Given the description of an element on the screen output the (x, y) to click on. 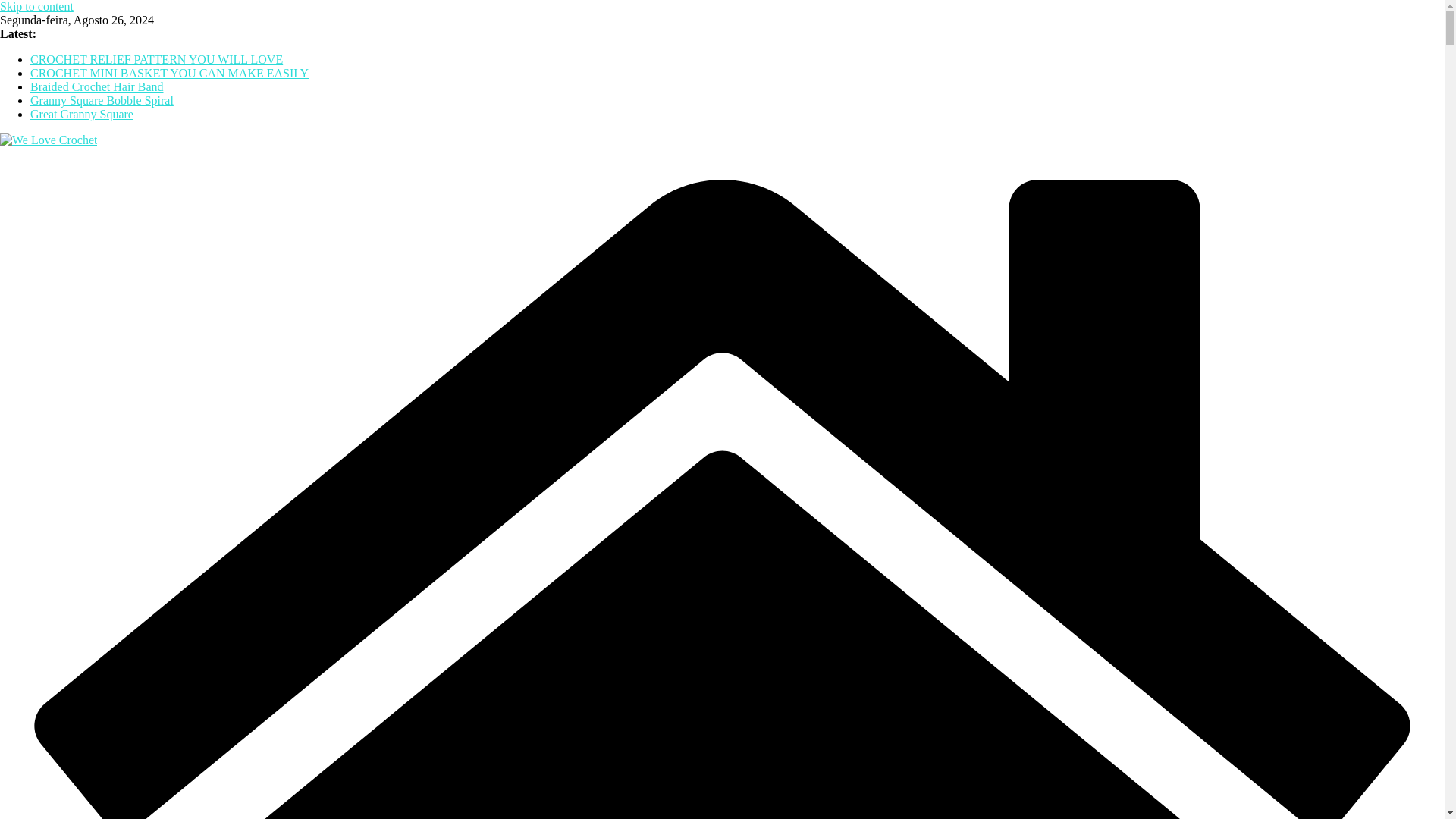
Great Granny Square (81, 113)
Great Granny Square (81, 113)
CROCHET RELIEF PATTERN YOU WILL LOVE (156, 59)
CROCHET MINI BASKET YOU CAN MAKE EASILY (169, 72)
CROCHET RELIEF PATTERN YOU WILL LOVE (156, 59)
Braided Crochet Hair Band (96, 86)
Granny Square Bobble Spiral (101, 100)
CROCHET MINI BASKET YOU CAN MAKE EASILY (169, 72)
Skip to content (37, 6)
Granny Square Bobble Spiral (101, 100)
